Given the description of an element on the screen output the (x, y) to click on. 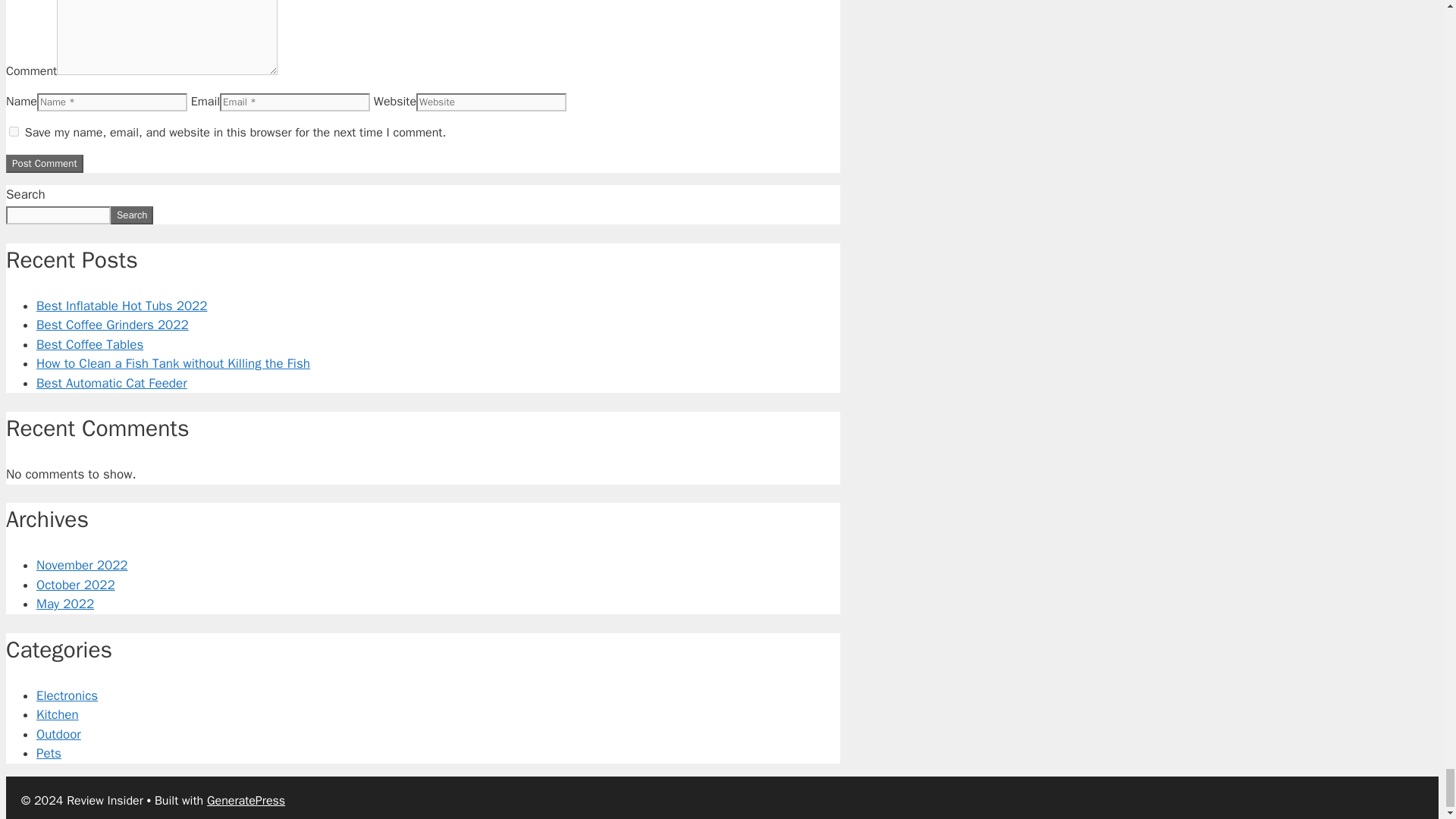
GeneratePress (245, 800)
How to Clean a Fish Tank without Killing the Fish (173, 363)
Search (131, 215)
Post Comment (43, 163)
May 2022 (65, 603)
Best Automatic Cat Feeder (111, 383)
Kitchen (57, 714)
Electronics (66, 695)
Outdoor (58, 734)
Best Inflatable Hot Tubs 2022 (121, 305)
Best Coffee Tables (89, 344)
yes (13, 131)
Post Comment (43, 163)
Pets (48, 753)
October 2022 (75, 584)
